Given the description of an element on the screen output the (x, y) to click on. 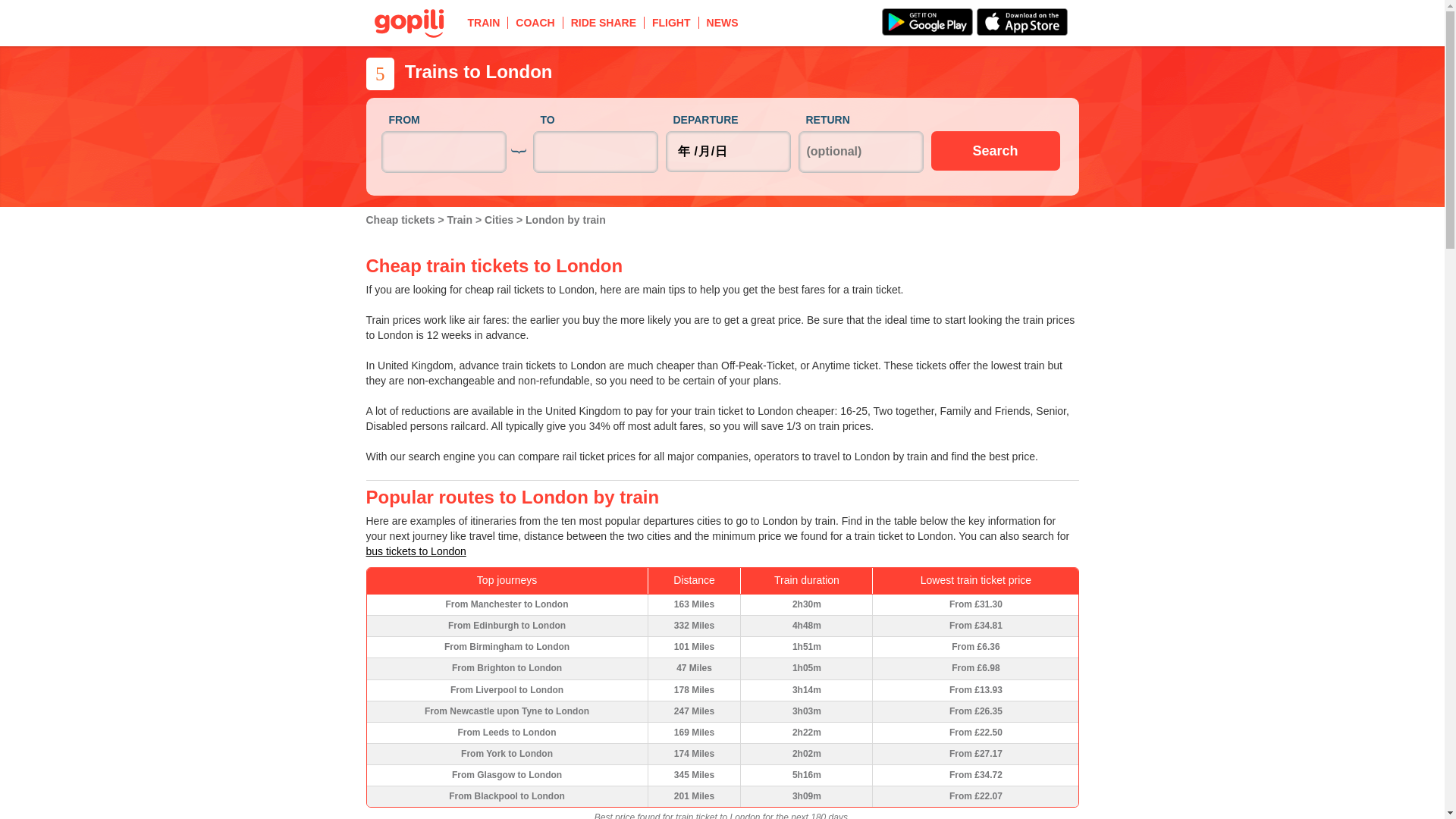
NEWS (721, 22)
Cities (500, 219)
Train (461, 219)
COACH (535, 22)
RIDE SHARE (604, 22)
Search (995, 150)
Cheap tickets (401, 219)
bus tickets to London (415, 551)
London by train (565, 219)
FLIGHT (671, 22)
TRAIN (484, 22)
